Given the description of an element on the screen output the (x, y) to click on. 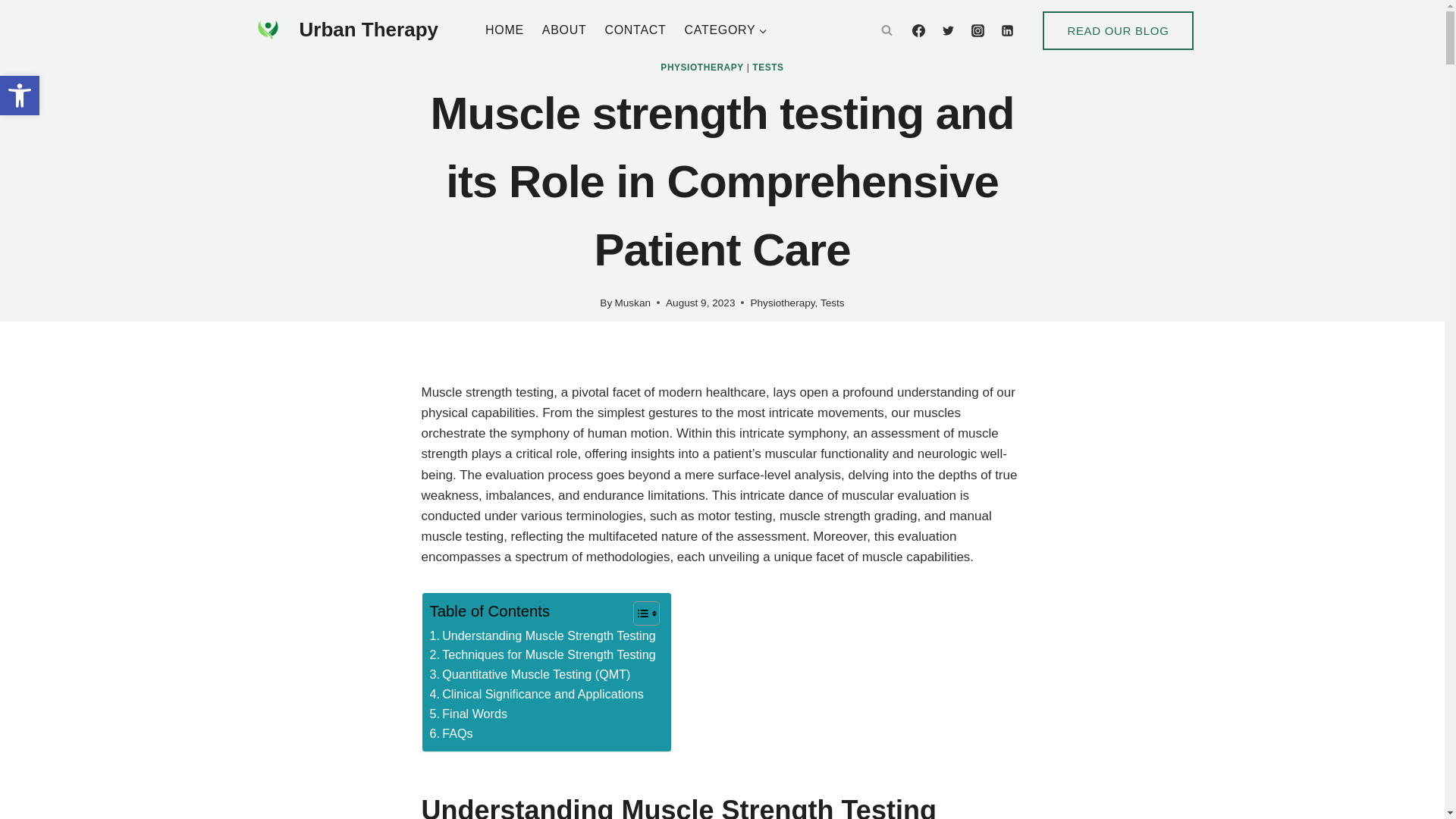
FAQs (450, 733)
ABOUT (563, 30)
CATEGORY (725, 30)
Techniques for Muscle Strength Testing (542, 655)
Clinical Significance and Applications (536, 694)
High Contrast (19, 95)
